Given the description of an element on the screen output the (x, y) to click on. 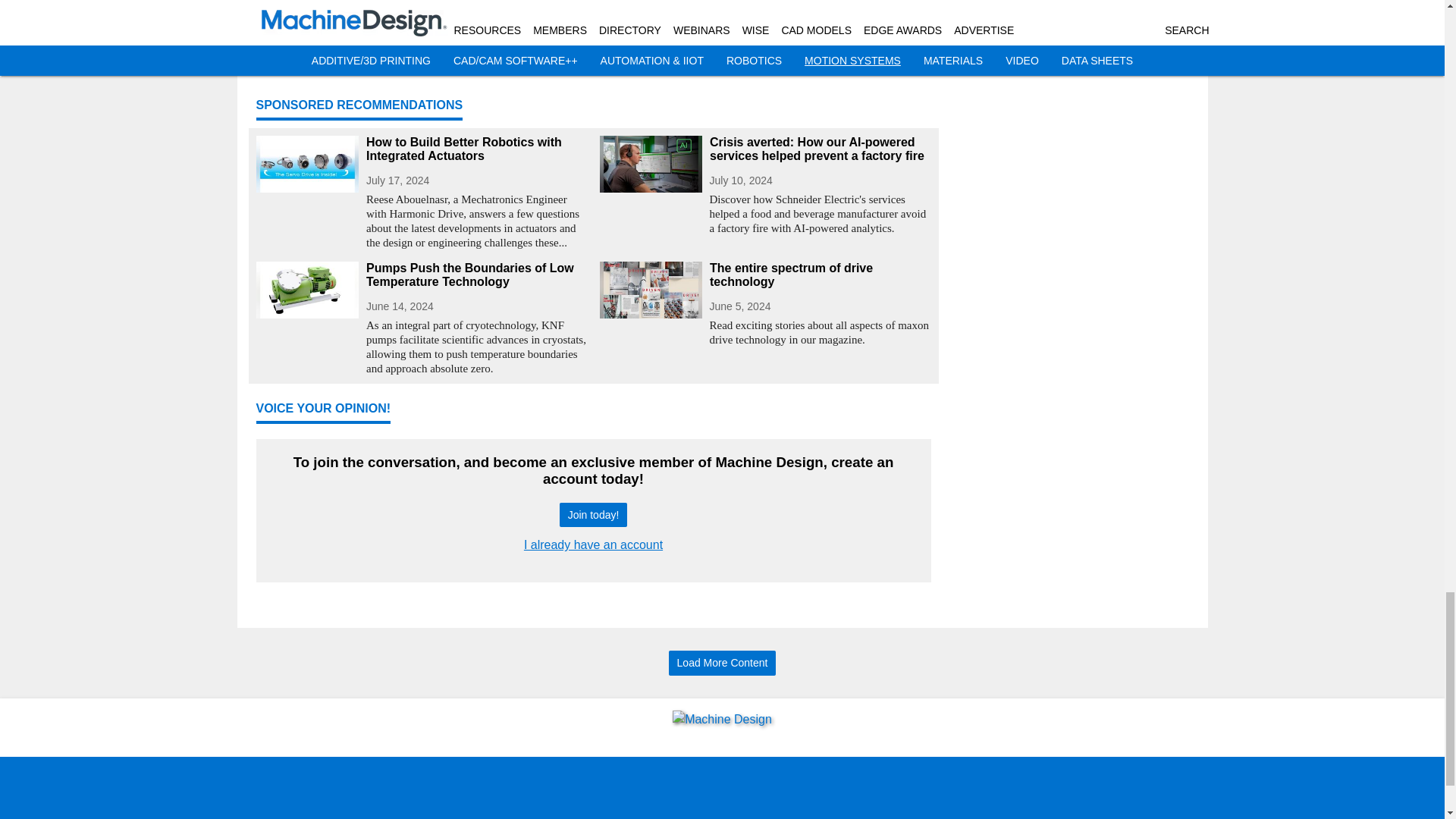
Selecting Fasteners for Thin-Walled Joints (764, 52)
The entire spectrum of drive technology (820, 275)
Pneumatic Pressure Regulators: A Primer (422, 43)
How to Build Better Robotics with Integrated Actuators (476, 148)
Join today! (593, 514)
Pumps Push the Boundaries of Low Temperature Technology (476, 275)
